Given the description of an element on the screen output the (x, y) to click on. 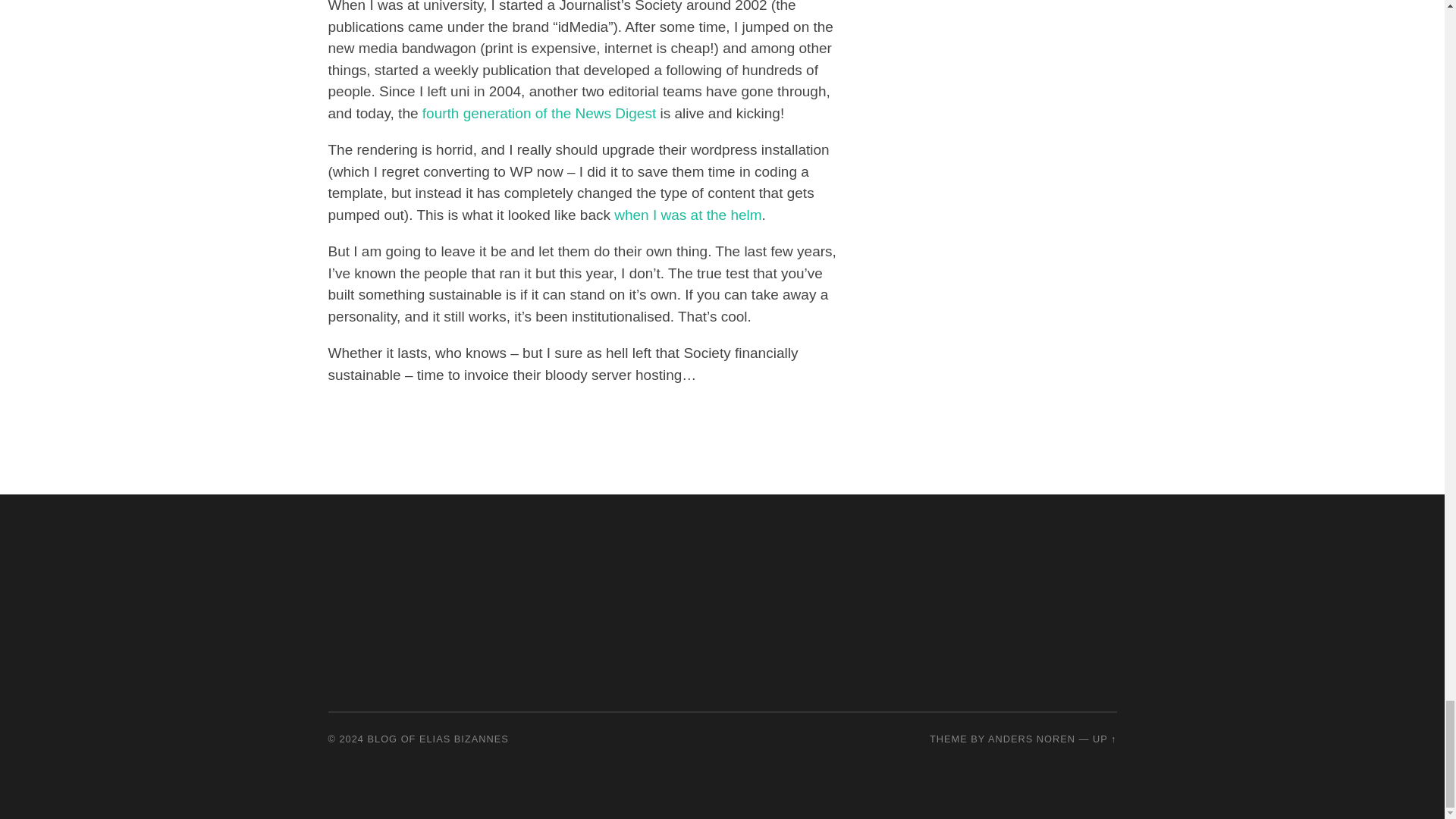
To the top (1104, 738)
when I was at the helm (687, 214)
fourth generation of the News Digest (539, 113)
